Given the description of an element on the screen output the (x, y) to click on. 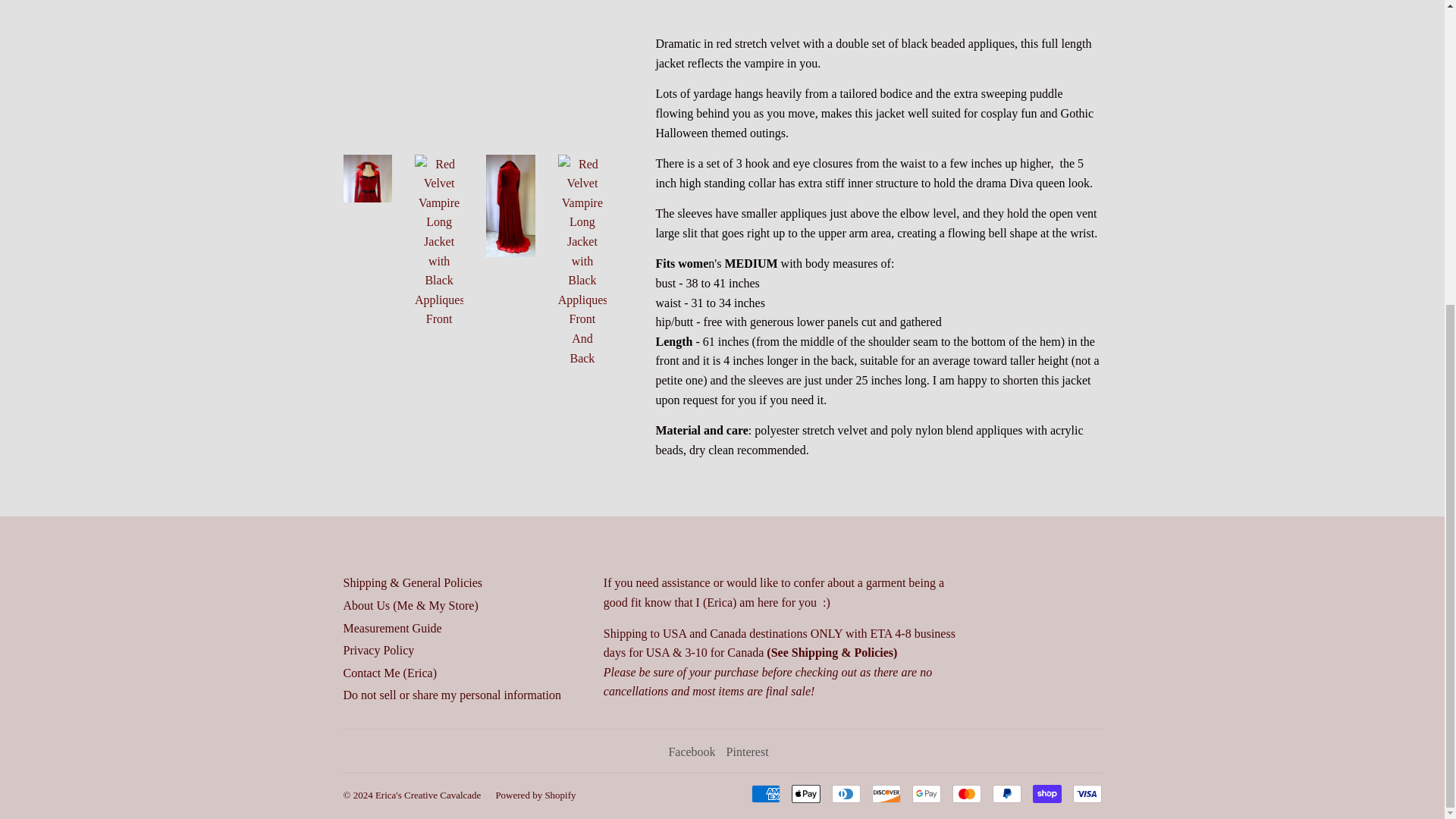
Do not sell or share my personal information (451, 694)
Pinterest (747, 751)
Mastercard (966, 793)
Discover (886, 793)
Google Pay (925, 793)
Diners Club (845, 793)
Visa (1085, 793)
American Express (764, 793)
Measurement Guide (391, 627)
Shop Pay (1046, 793)
